Given the description of an element on the screen output the (x, y) to click on. 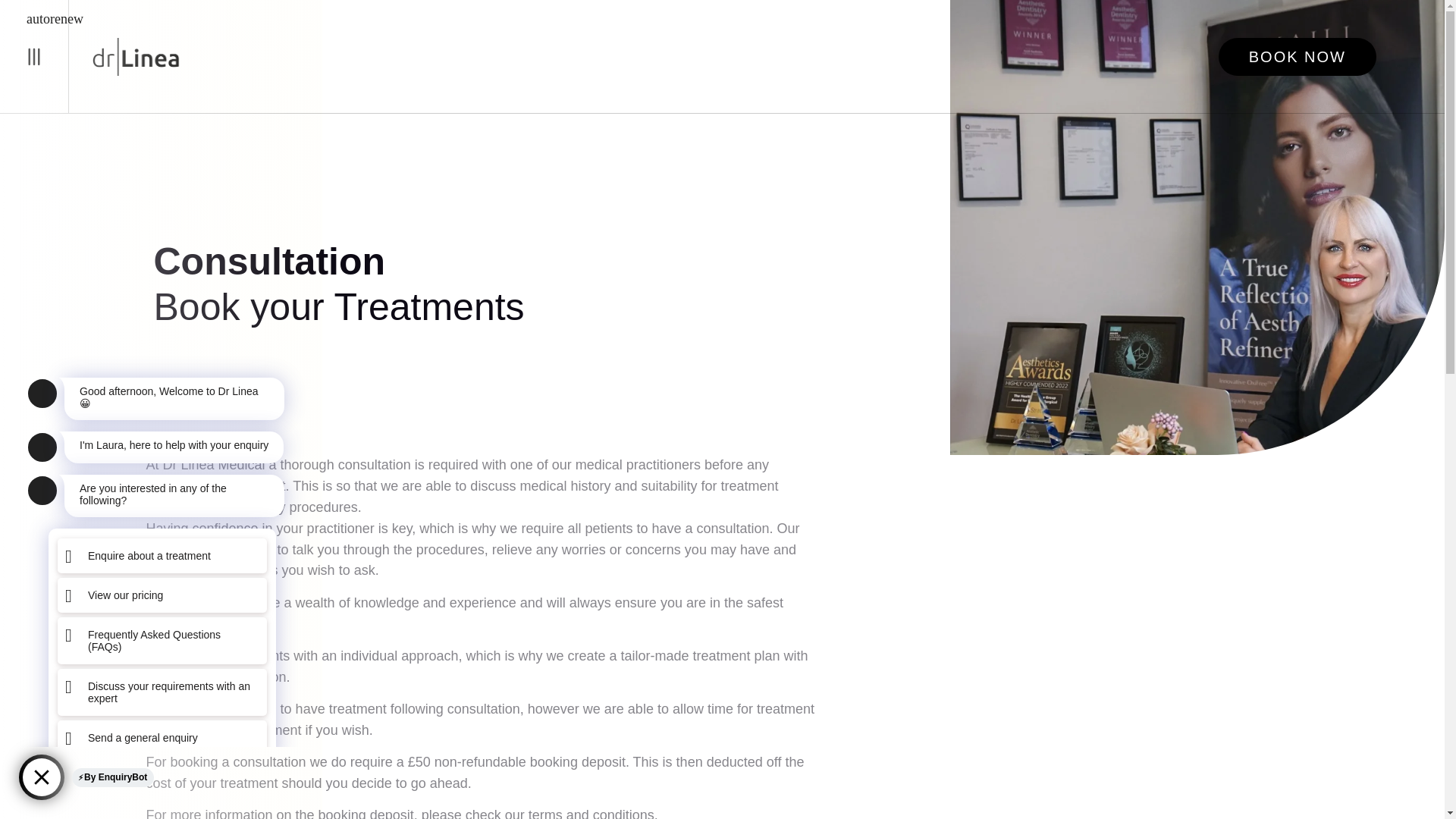
By EnquiryBot (112, 777)
BOOK NOW (1296, 56)
